Given the description of an element on the screen output the (x, y) to click on. 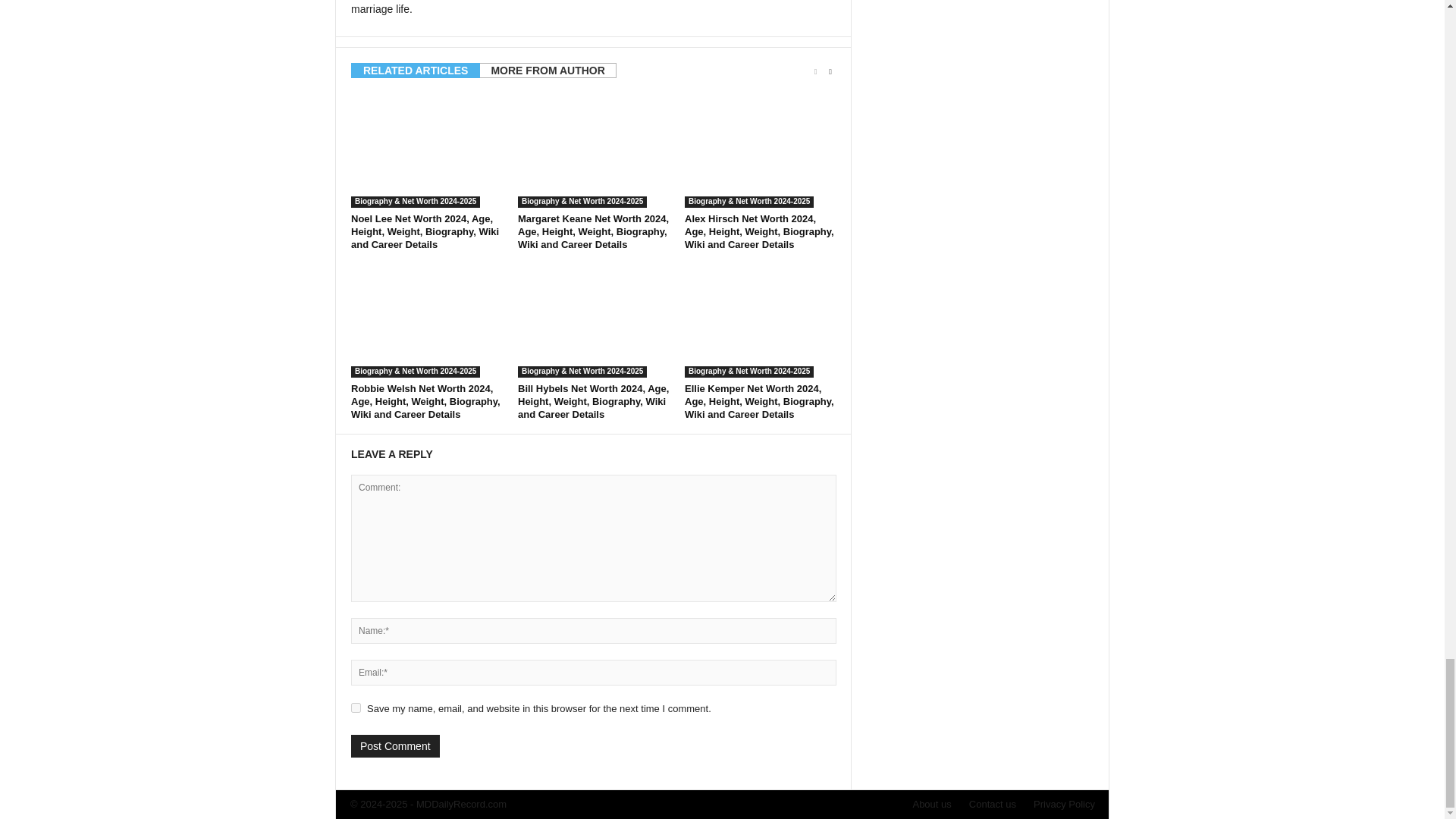
MORE FROM AUTHOR (547, 70)
yes (355, 707)
